Given the description of an element on the screen output the (x, y) to click on. 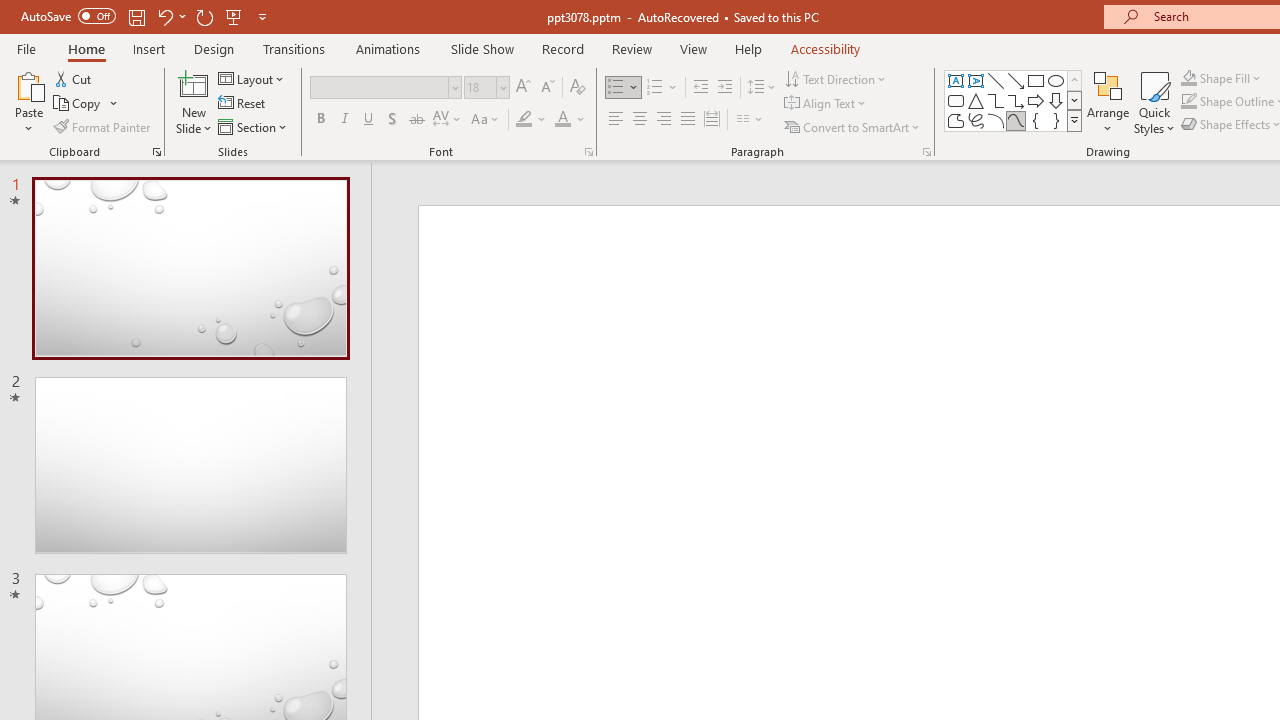
Reset (243, 103)
Vertical Text Box (975, 80)
Align Text (826, 103)
Connector: Elbow (995, 100)
Font... (588, 151)
Increase Indent (725, 87)
Shape Fill Dark Green, Accent 2 (1188, 78)
Align Left (616, 119)
Strikethrough (416, 119)
